Given the description of an element on the screen output the (x, y) to click on. 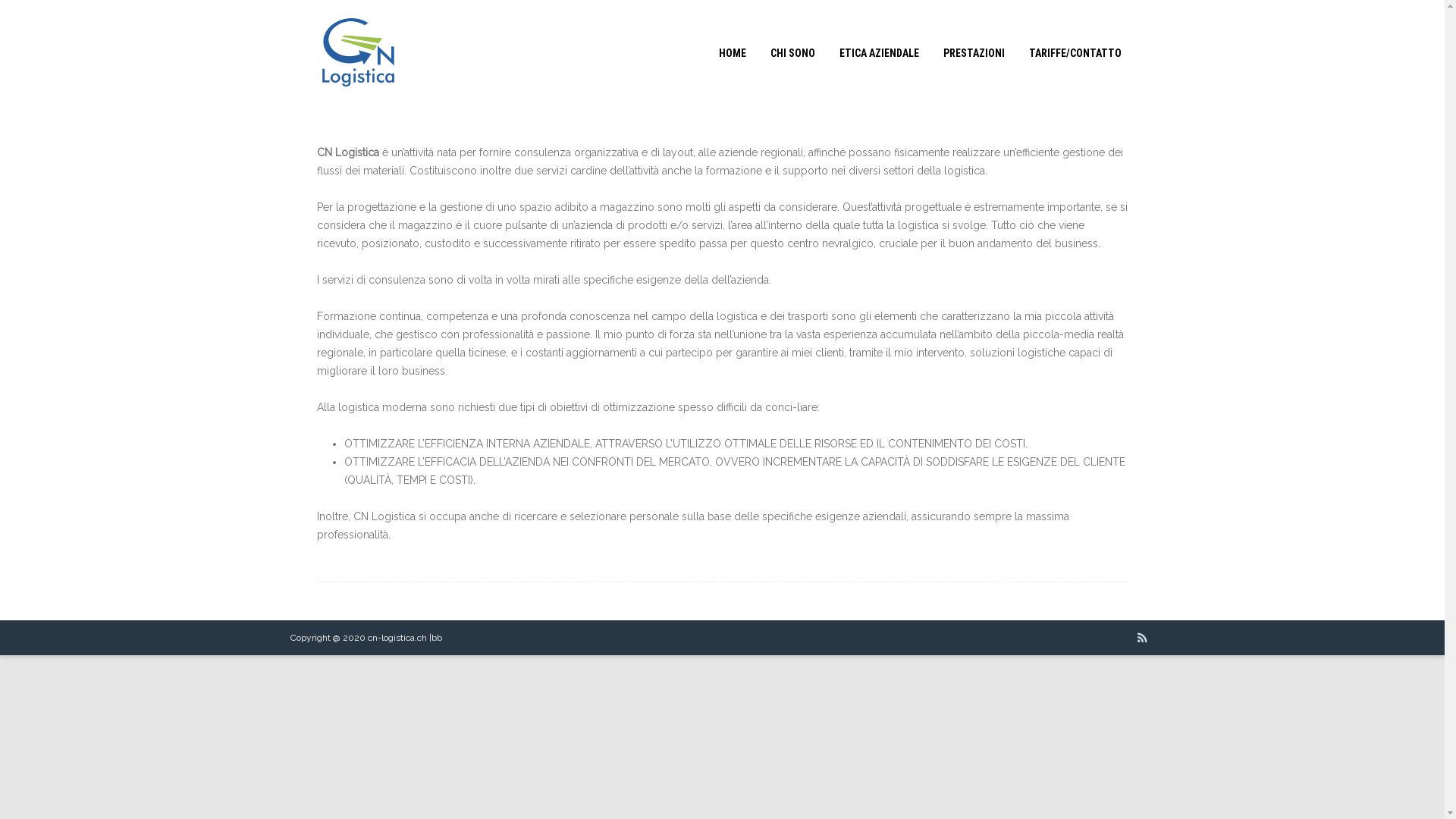
CHI SONO Element type: text (791, 52)
CN-logistica Element type: hover (357, 100)
TARIFFE/CONTATTO Element type: text (1074, 52)
RSS Element type: hover (1141, 637)
ETICA AZIENDALE Element type: text (879, 52)
PRESTAZIONI Element type: text (973, 52)
HOME Element type: text (731, 52)
